Given the description of an element on the screen output the (x, y) to click on. 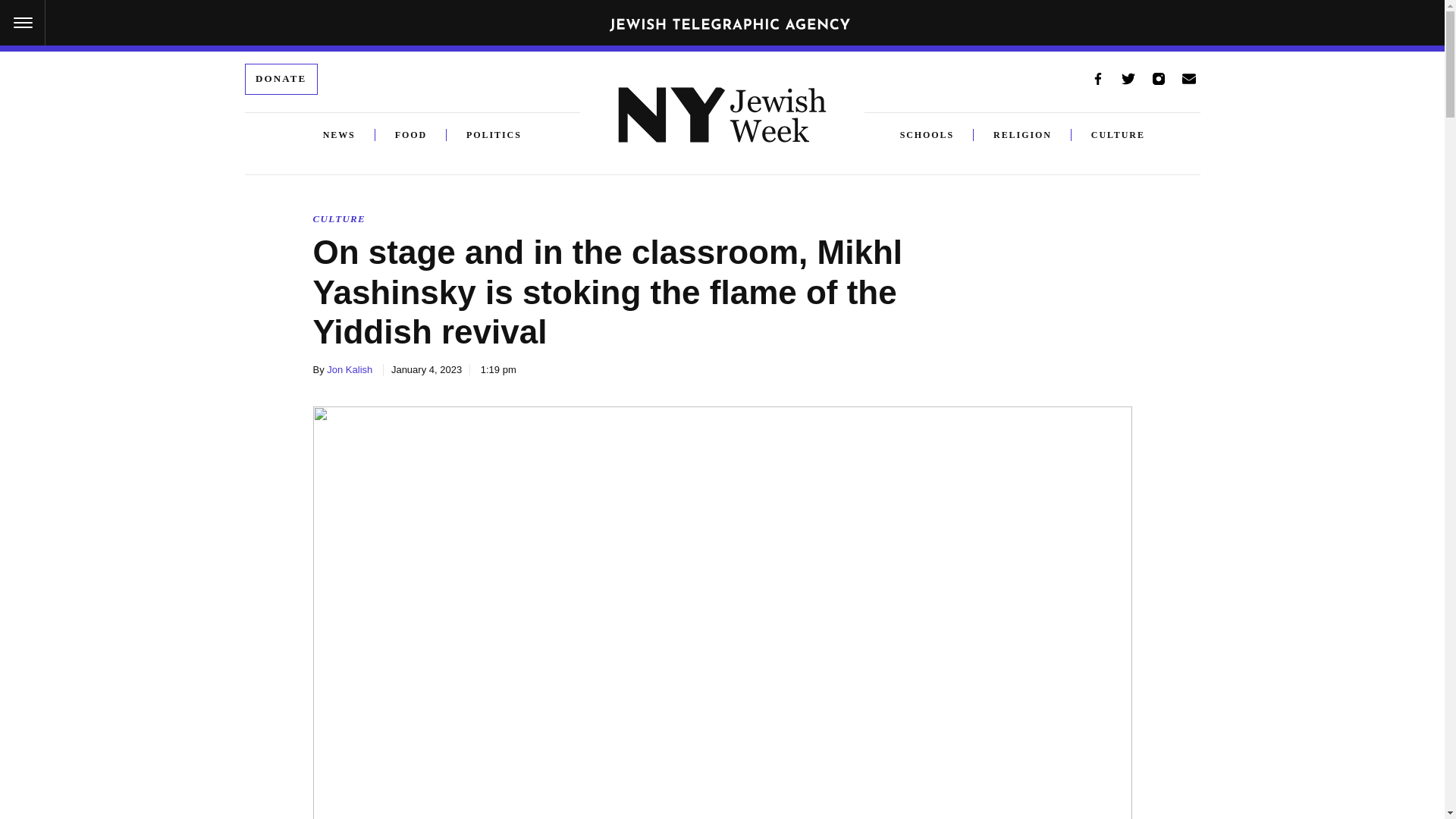
SCHOOLS (936, 134)
POLITICS (483, 134)
NEWS (338, 134)
Mobile menu toggle (22, 22)
CULTURE (1117, 134)
DONATE (280, 79)
RELIGION (1022, 134)
FOOD (410, 134)
